Given the description of an element on the screen output the (x, y) to click on. 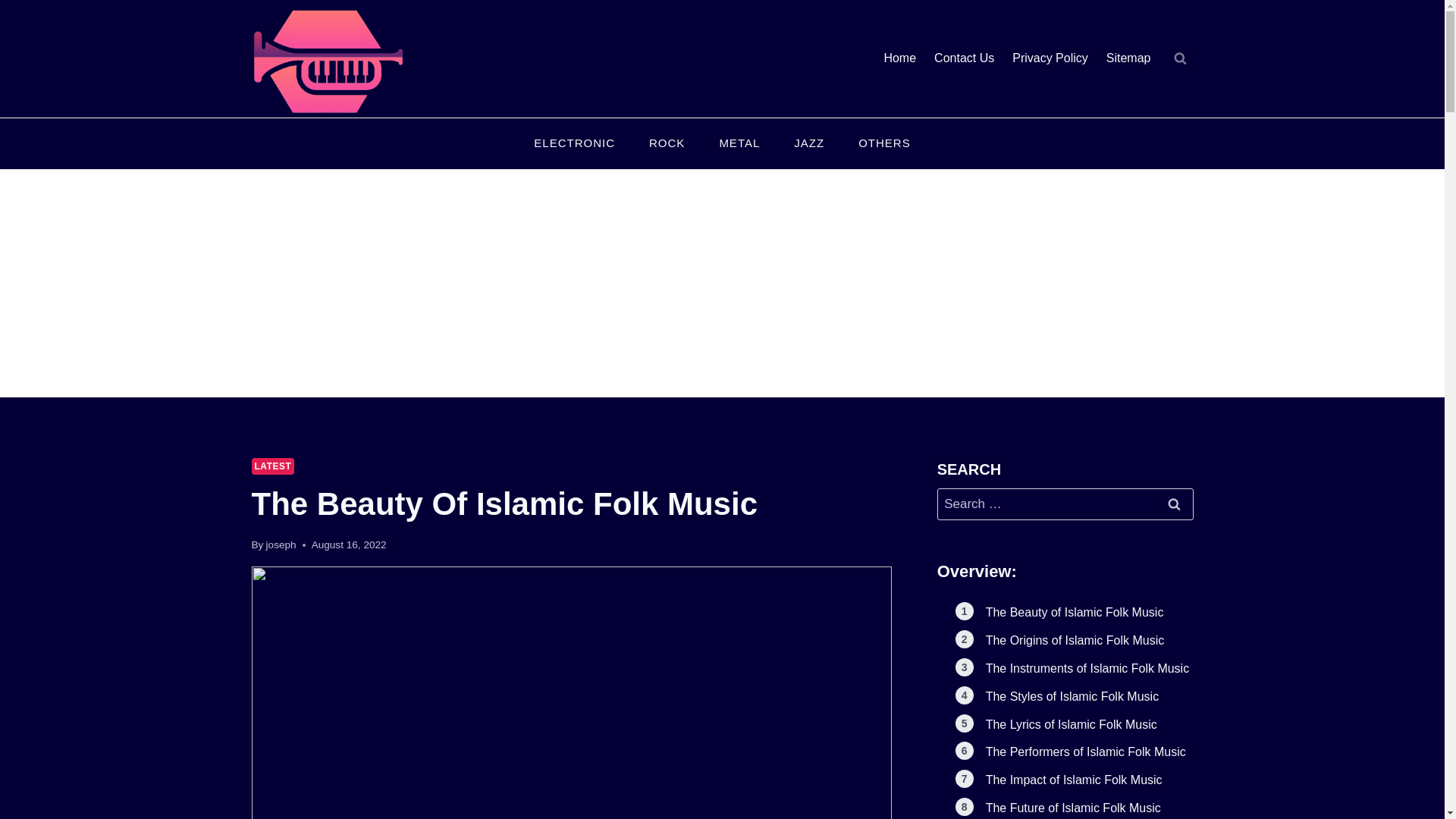
Privacy Policy (1050, 58)
Contact Us (963, 58)
METAL (739, 143)
OTHERS (884, 143)
ROCK (666, 143)
Search (1174, 504)
Sitemap (1128, 58)
Search (1174, 504)
joseph (281, 544)
